Given the description of an element on the screen output the (x, y) to click on. 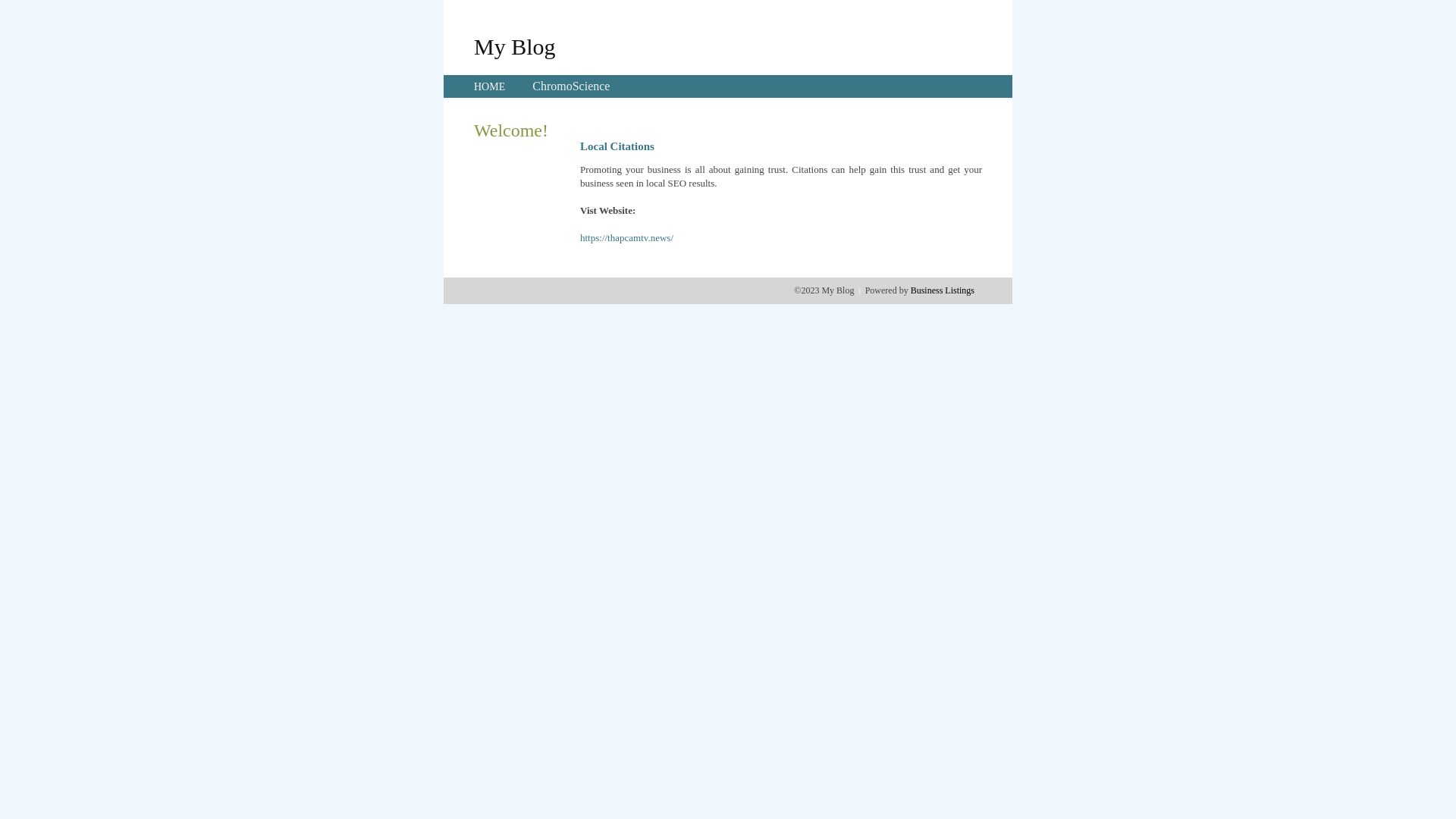
https://thapcamtv.news/ Element type: text (626, 237)
My Blog Element type: text (514, 46)
HOME Element type: text (489, 86)
Business Listings Element type: text (942, 290)
ChromoScience Element type: text (570, 85)
